Given the description of an element on the screen output the (x, y) to click on. 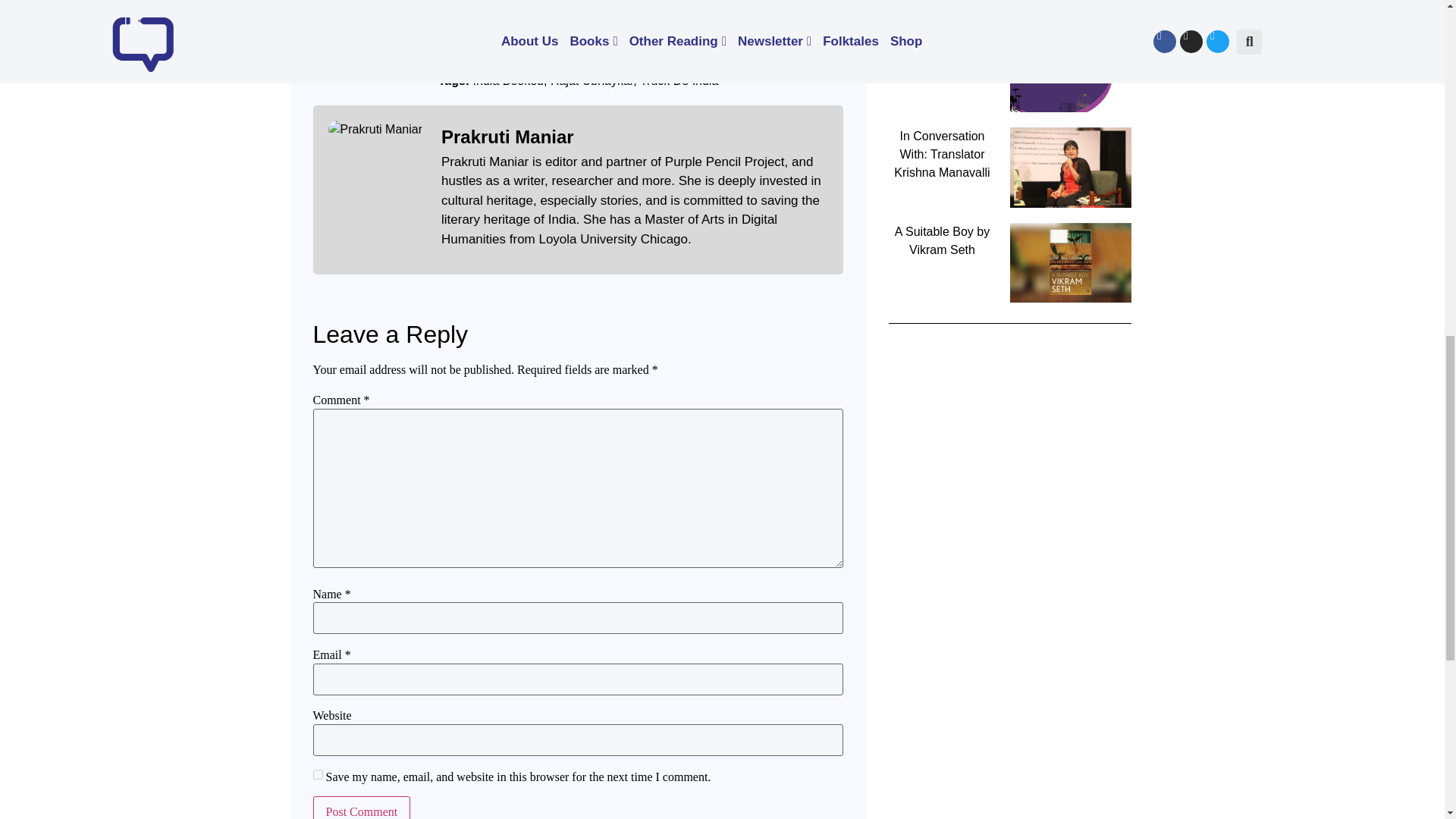
Post Comment (361, 807)
yes (317, 774)
